Given the description of an element on the screen output the (x, y) to click on. 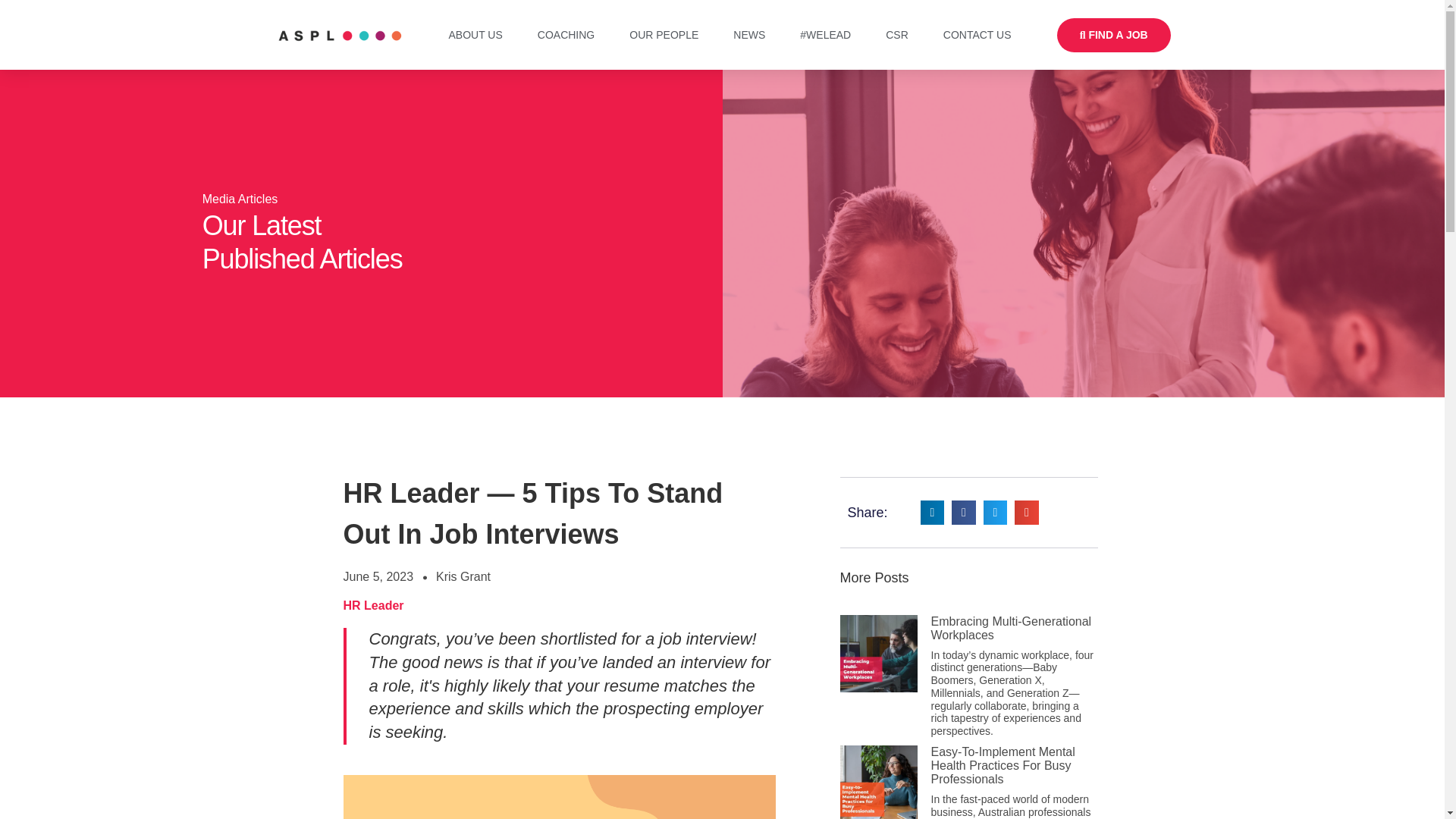
CONTACT US (977, 34)
COACHING (566, 34)
Embracing Multi-Generational Workplaces (1011, 627)
June 5, 2023 (377, 576)
FIND A JOB (1114, 34)
Kris Grant (462, 576)
ABOUT US (475, 34)
NEWS (748, 34)
OUR PEOPLE (663, 34)
